Given the description of an element on the screen output the (x, y) to click on. 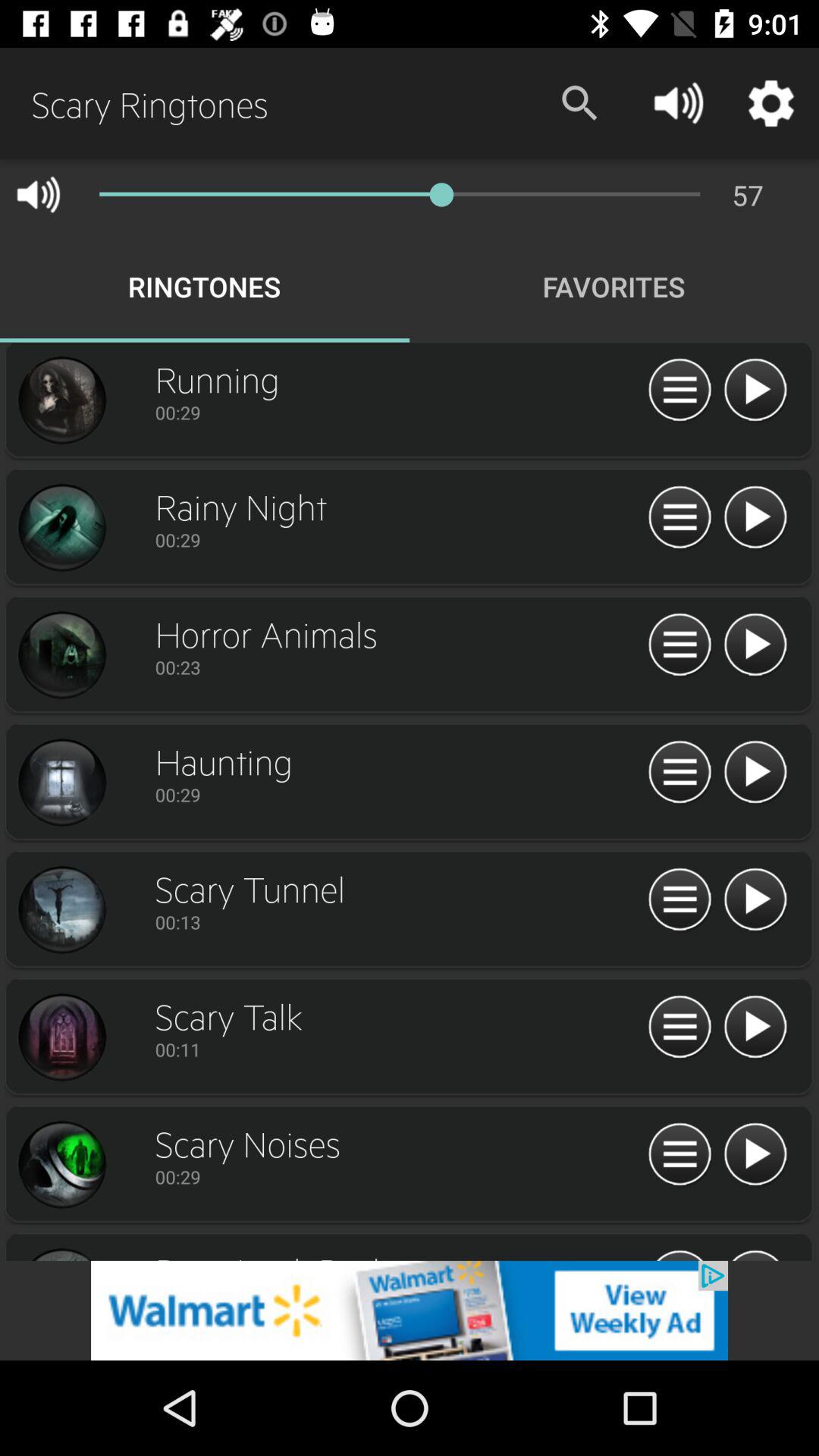
select haunting (61, 782)
